Given the description of an element on the screen output the (x, y) to click on. 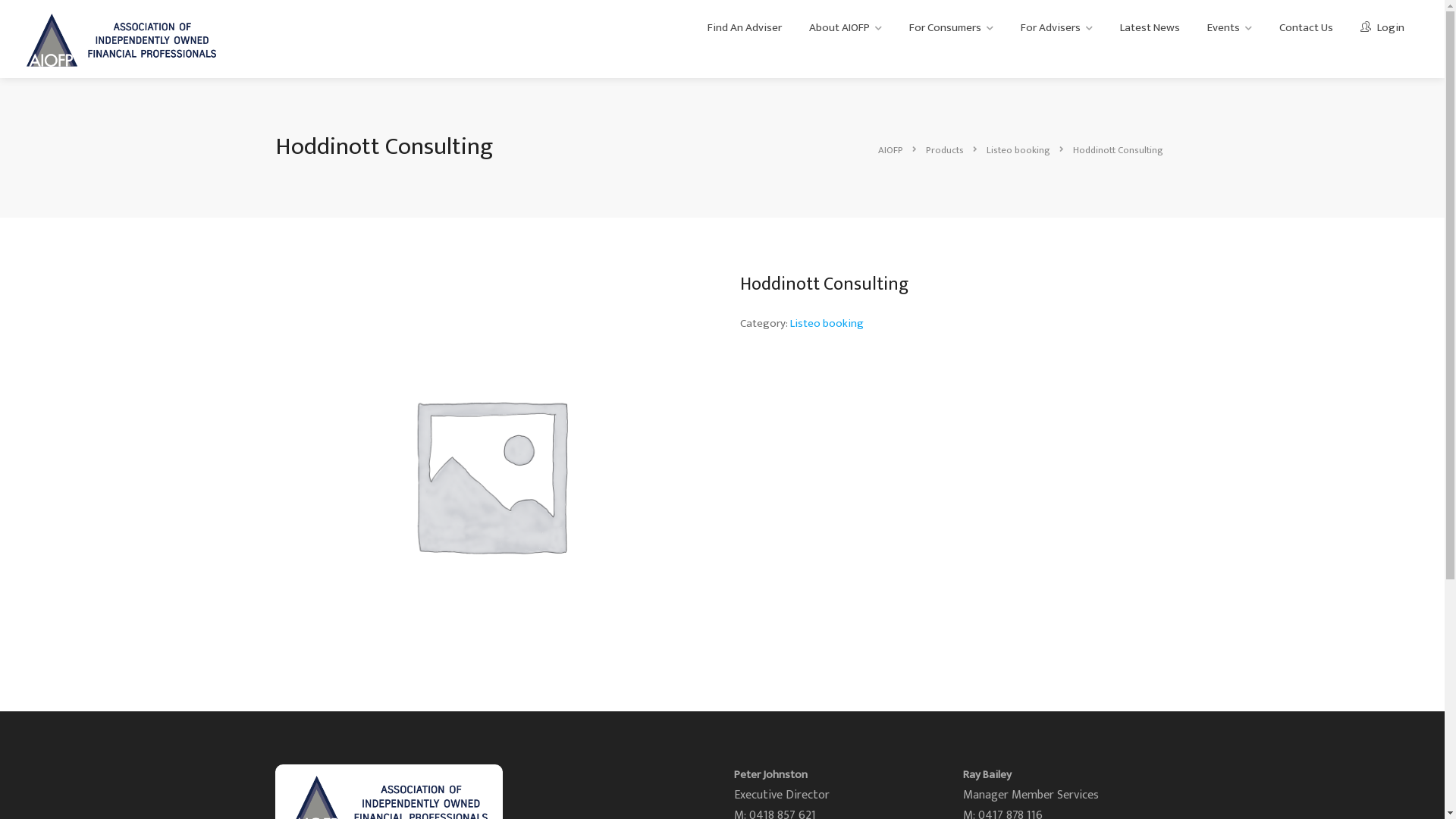
AIOFP Element type: text (891, 149)
Listeo booking Element type: text (1018, 149)
Login Element type: text (1382, 27)
Latest News Element type: text (1149, 27)
AIOFP Element type: hover (121, 39)
Products Element type: text (945, 149)
Find An Adviser Element type: text (744, 27)
Contact Us Element type: text (1305, 27)
About AIOFP Element type: text (845, 27)
Events Element type: text (1229, 27)
Listeo booking Element type: text (826, 322)
For Consumers Element type: text (950, 27)
For Advisers Element type: text (1056, 27)
